Given the description of an element on the screen output the (x, y) to click on. 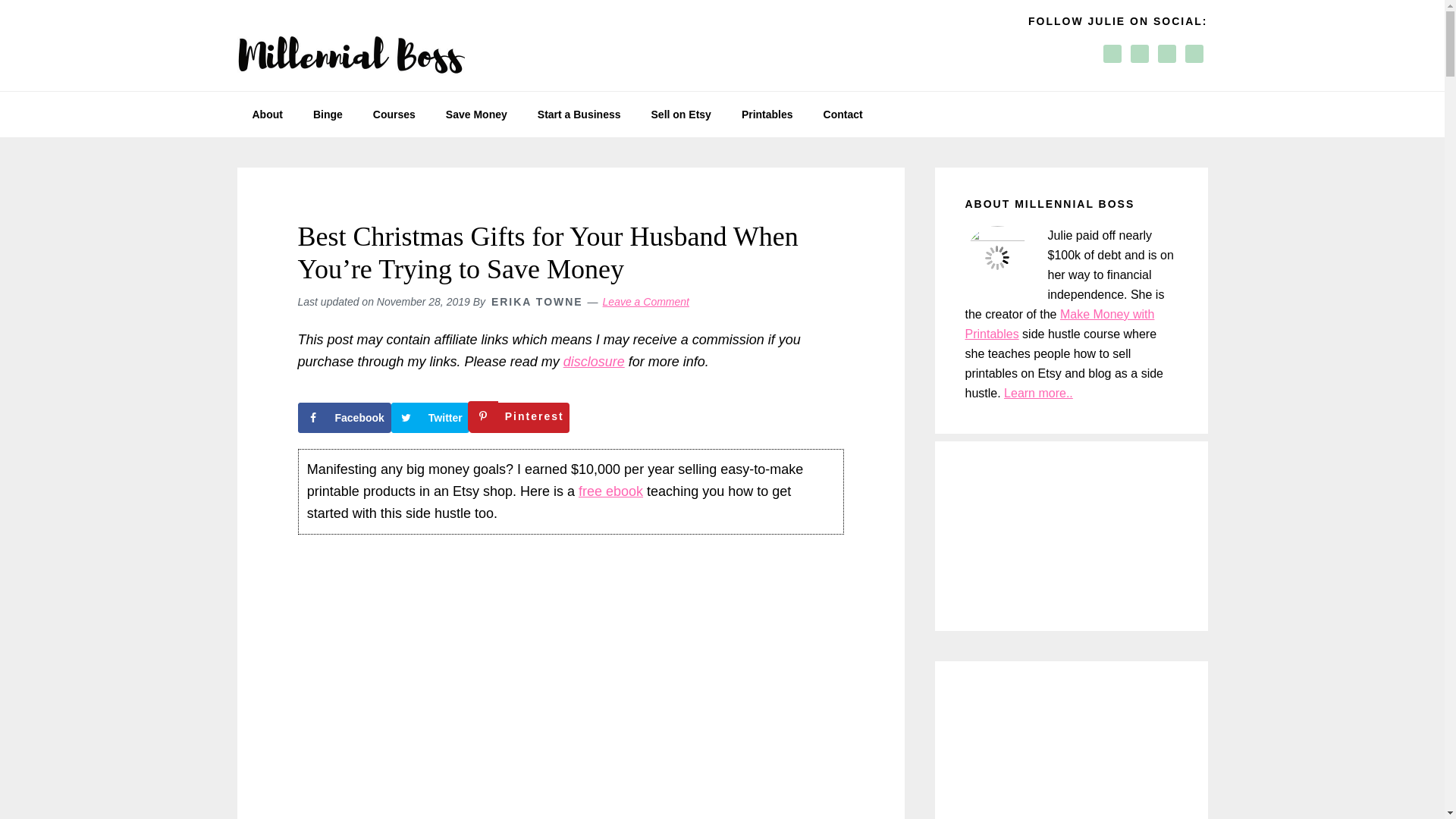
Start a Business (579, 114)
Save to Pinterest (518, 417)
Share on Twitter (429, 417)
About (266, 114)
Share on Facebook (343, 417)
Save Money (476, 114)
Courses (394, 114)
Millennial Boss (349, 45)
Printables (767, 114)
Binge (328, 114)
